Given the description of an element on the screen output the (x, y) to click on. 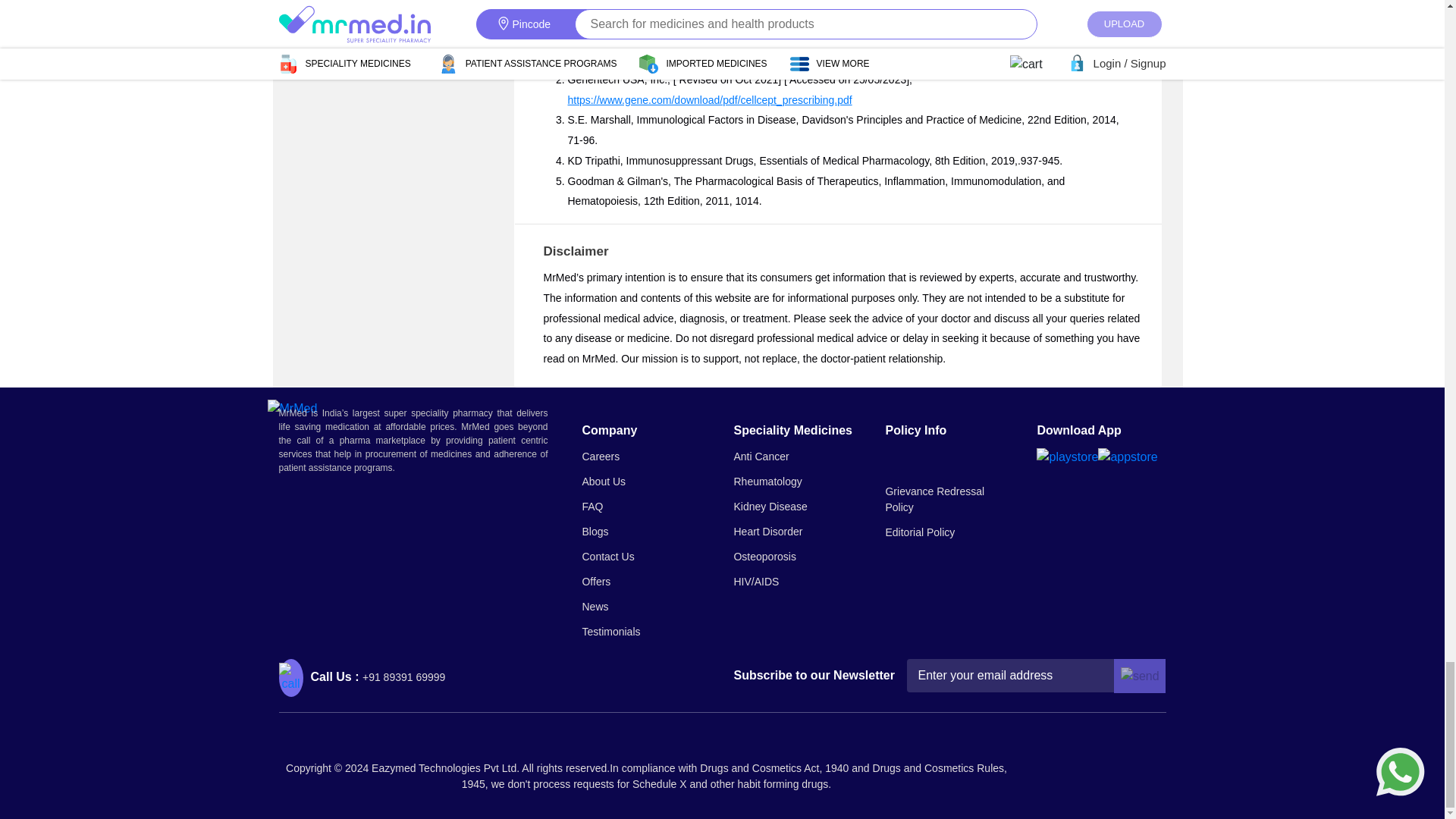
Careers (600, 455)
MrMed (291, 408)
About Us (603, 481)
